Given the description of an element on the screen output the (x, y) to click on. 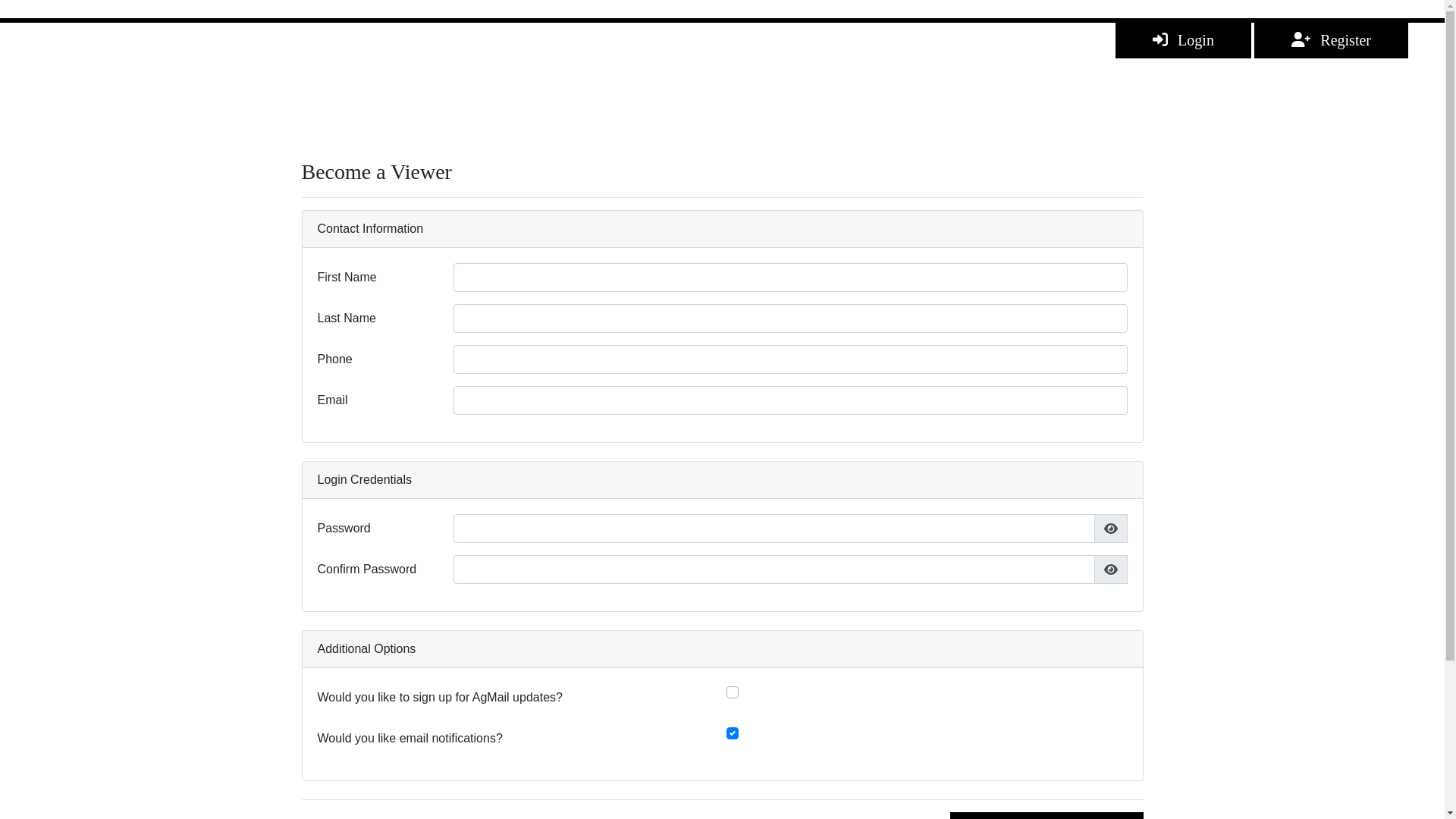
Login Element type: text (1183, 39)
Register Element type: text (1331, 39)
